Given the description of an element on the screen output the (x, y) to click on. 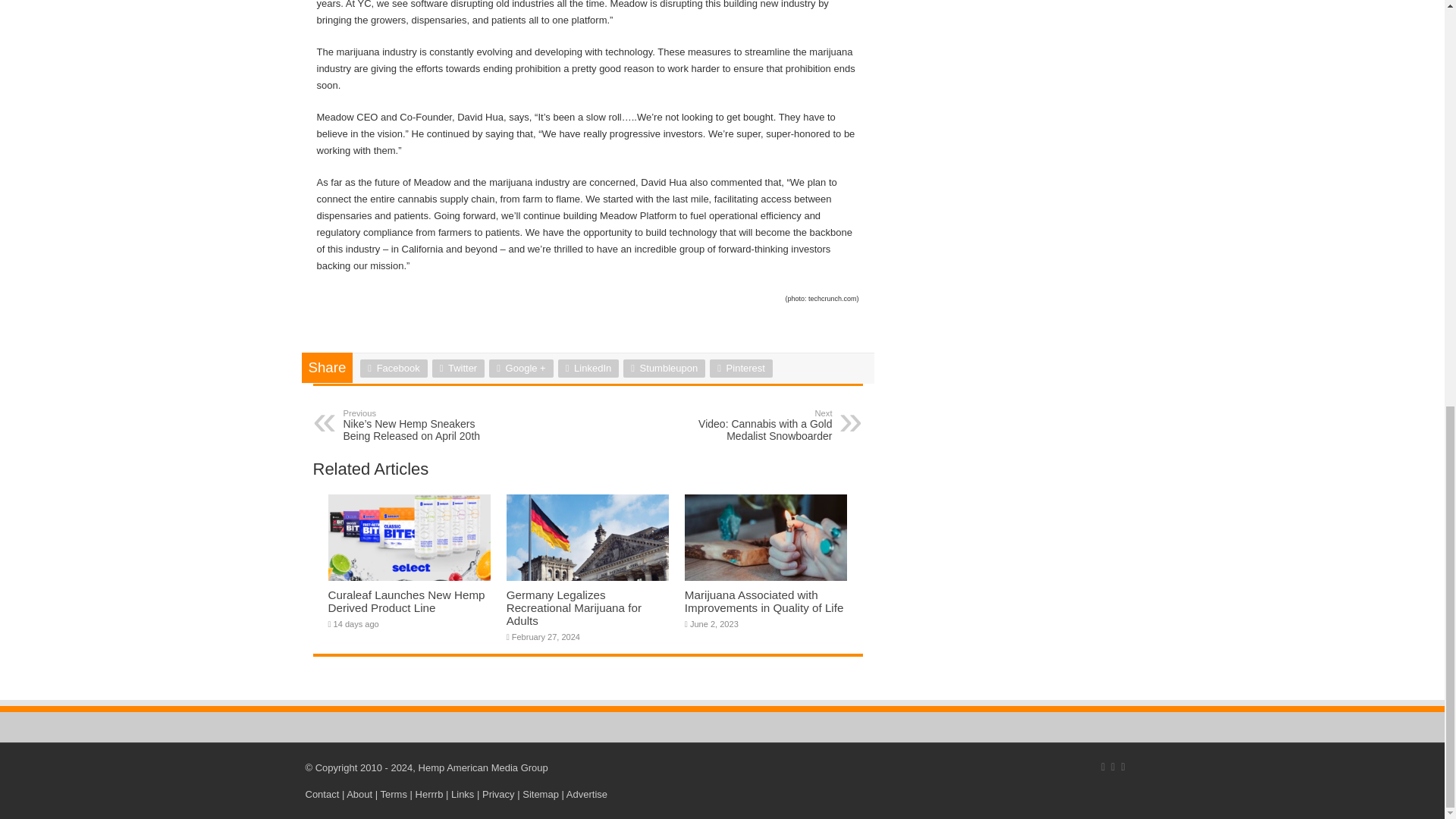
Scroll To Top (1421, 73)
Facebook (392, 368)
Twitter (458, 368)
Find Cannabis (429, 794)
